Given the description of an element on the screen output the (x, y) to click on. 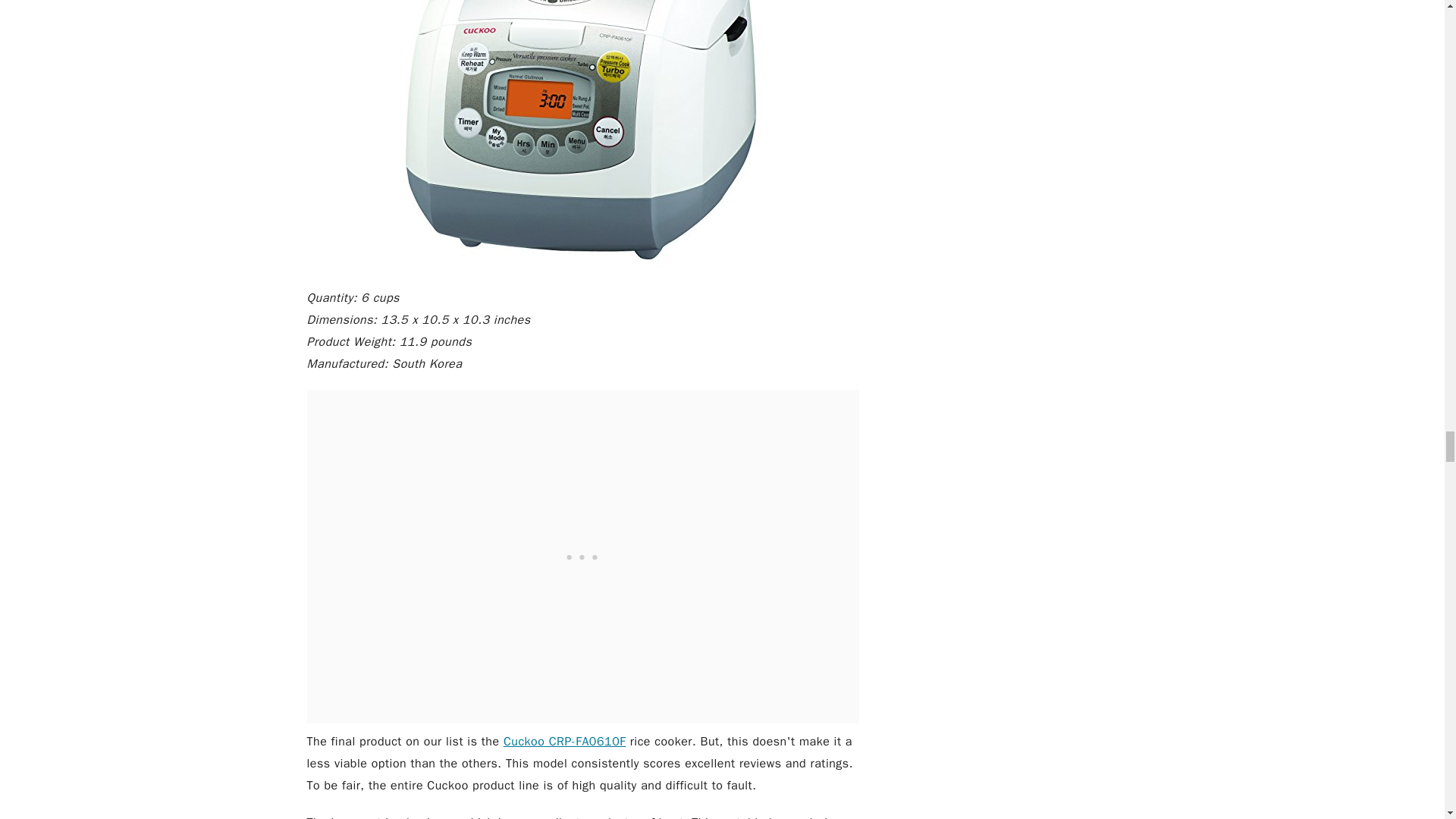
Cuckoo CRP-FA0610F (564, 741)
